Given the description of an element on the screen output the (x, y) to click on. 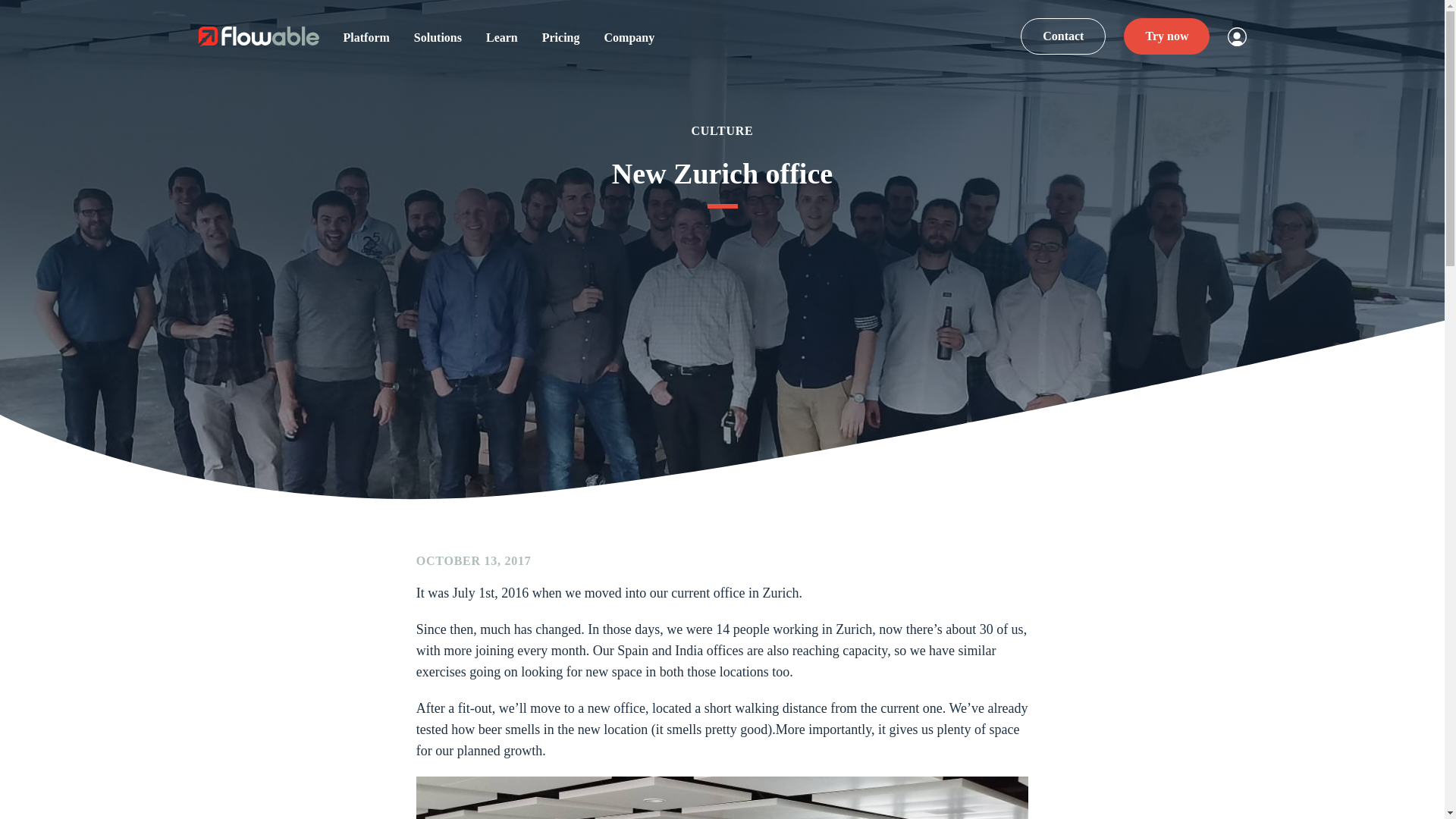
Contact (1062, 36)
Try now (1166, 36)
Platform (365, 36)
Pricing (560, 36)
